Given the description of an element on the screen output the (x, y) to click on. 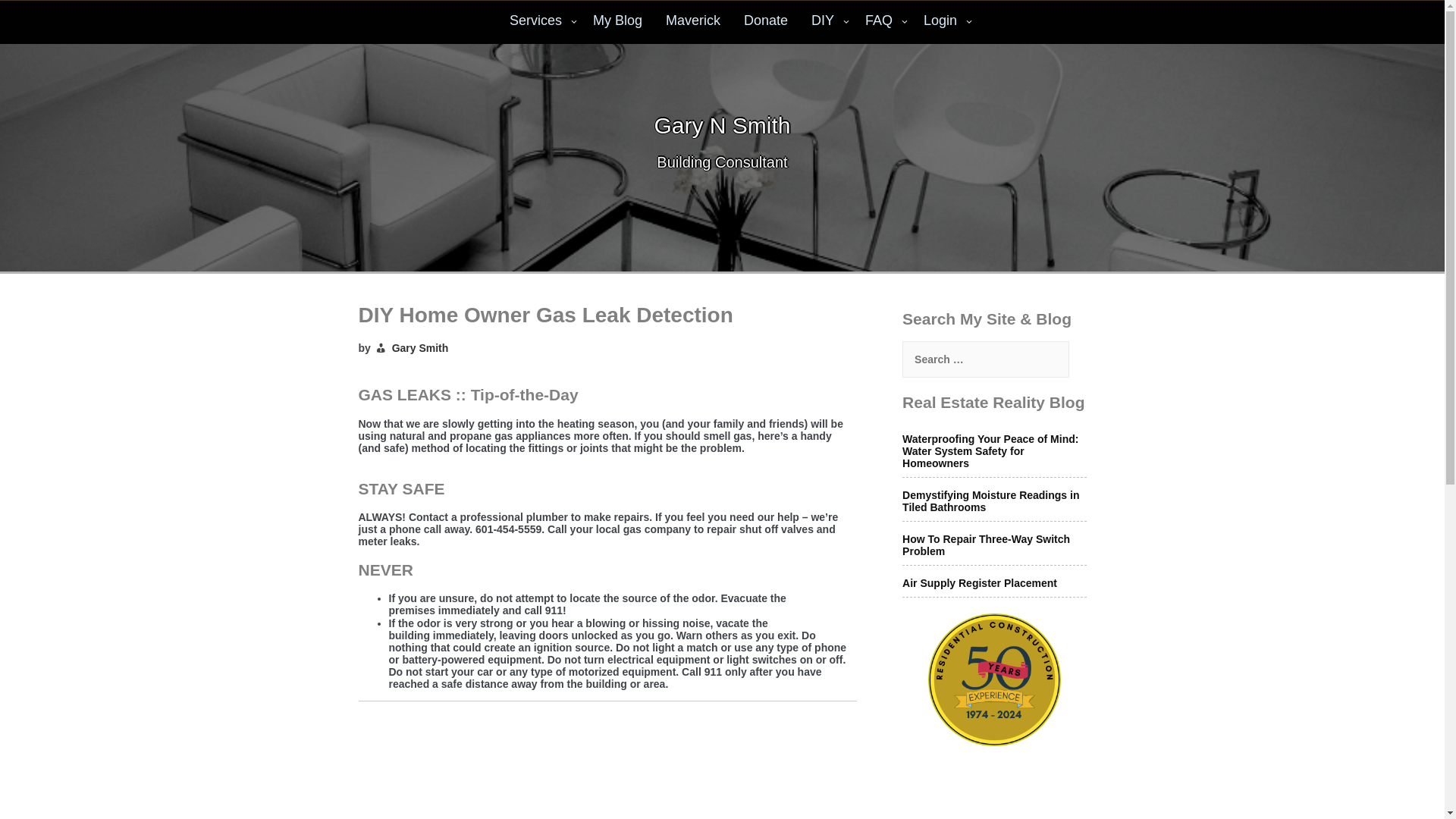
Login (944, 22)
DIY (826, 22)
Maverick (692, 22)
Donate (765, 22)
Services (538, 22)
Learn DIY Inspection Tips and Tricks (616, 22)
FAQ (882, 22)
My Blog (616, 22)
